Given the description of an element on the screen output the (x, y) to click on. 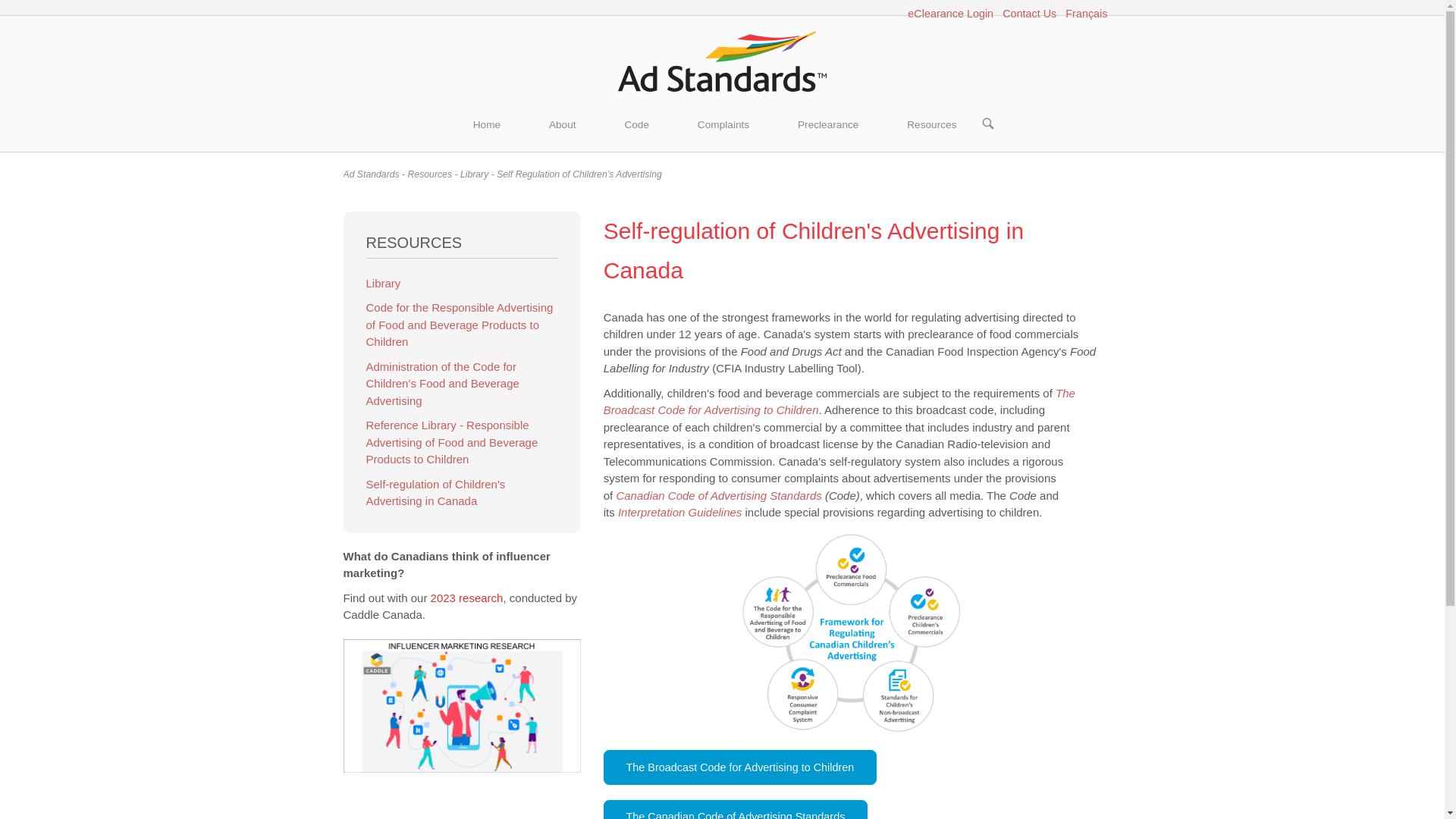
Go to Resources. (429, 173)
About (561, 125)
Code (636, 125)
Preclearance (827, 125)
Contact Us (1030, 15)
Complaints (723, 125)
eClearance Login (949, 15)
Go to Library. (473, 173)
Home (722, 60)
Home (485, 125)
Go to Ad Standards. (370, 173)
